Given the description of an element on the screen output the (x, y) to click on. 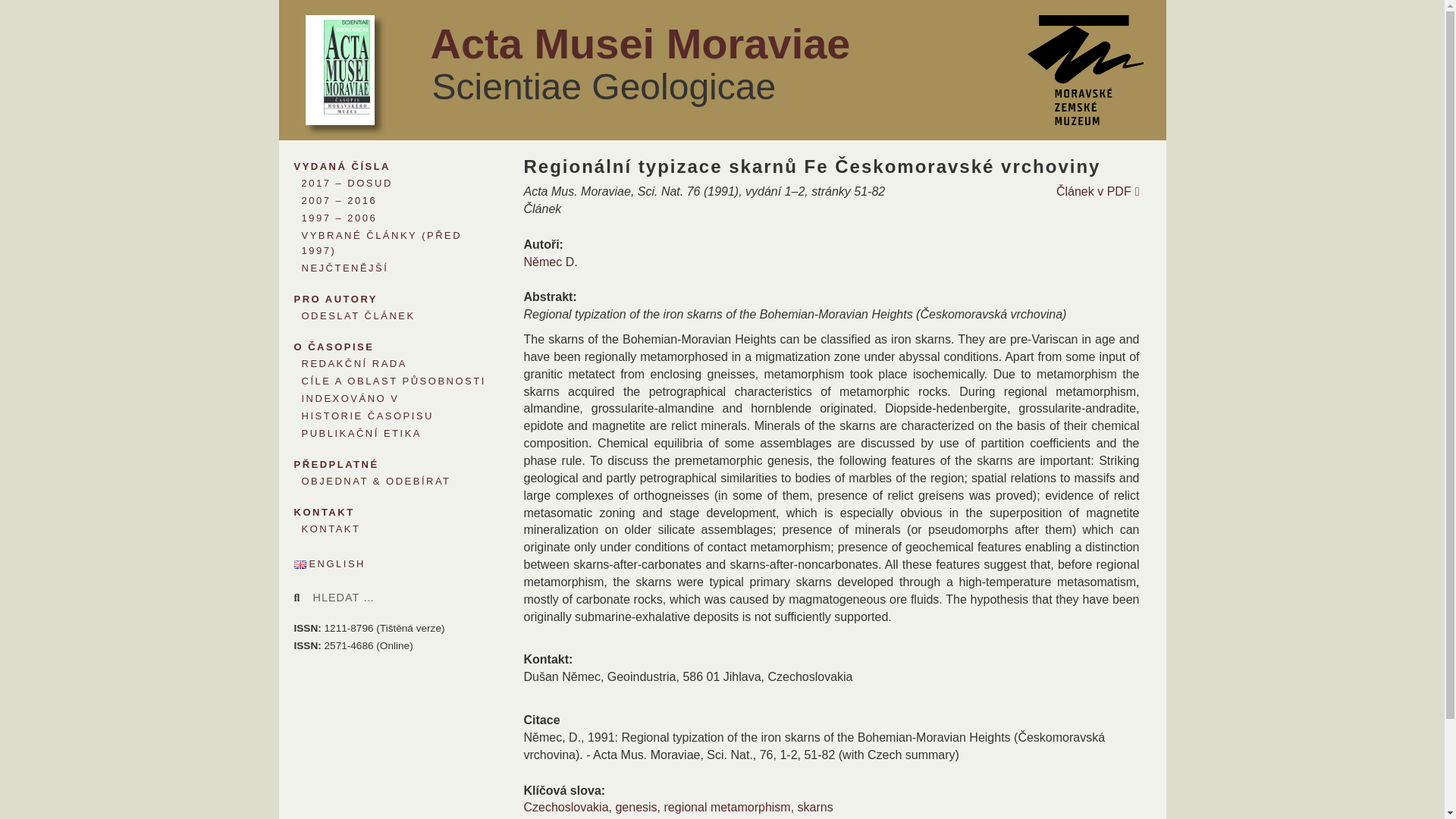
Acta Musei Moraviae (640, 43)
KONTAKT (384, 510)
PRO AUTORY (384, 297)
skarns (814, 807)
regional metamorphism (726, 807)
genesis (635, 807)
KONTAKT (384, 528)
ENGLISH (395, 563)
Czechoslovakia (565, 807)
